Given the description of an element on the screen output the (x, y) to click on. 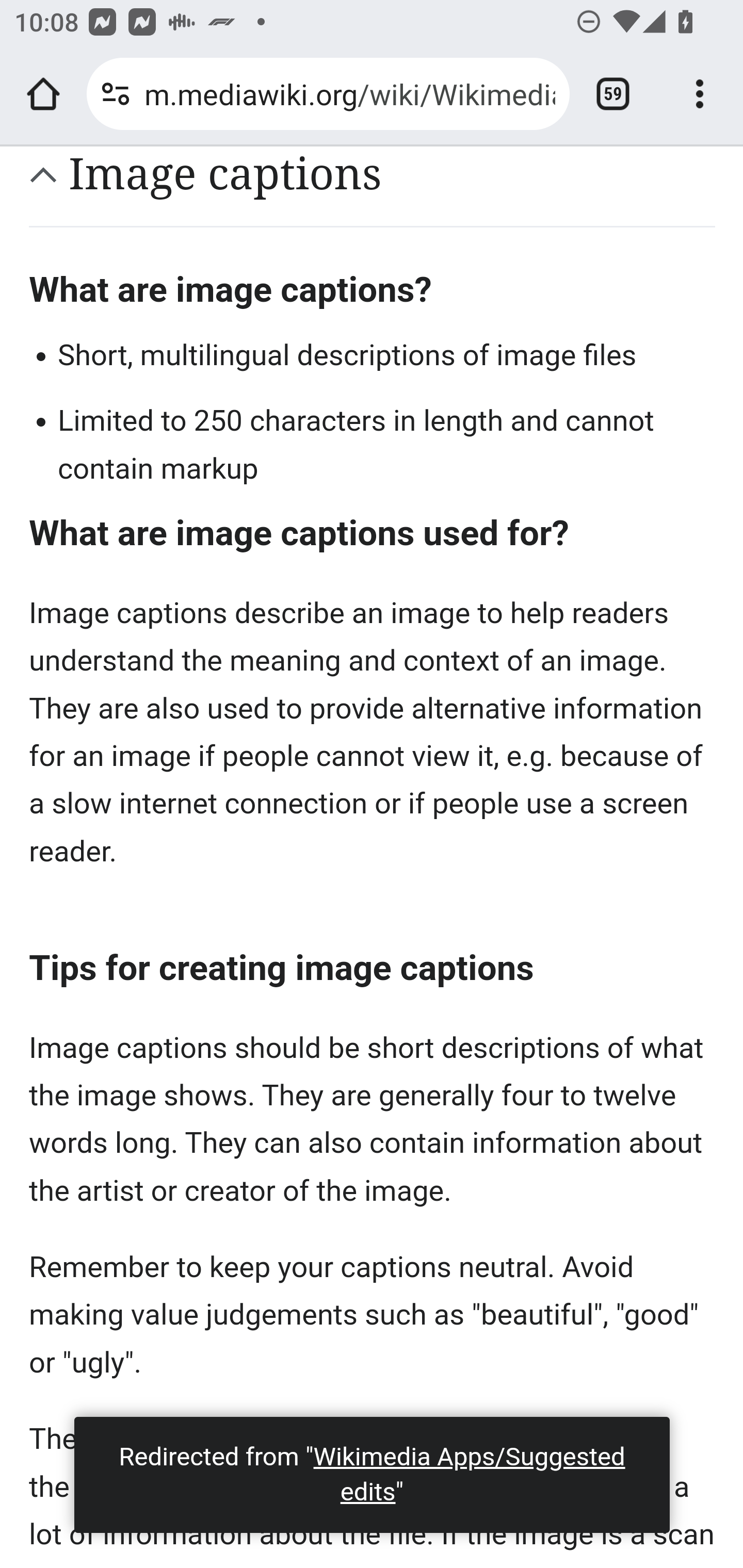
Open the home page (43, 93)
Connection is secure (115, 93)
Switch or close tabs (612, 93)
Customize and control Google Chrome (699, 93)
